Given the description of an element on the screen output the (x, y) to click on. 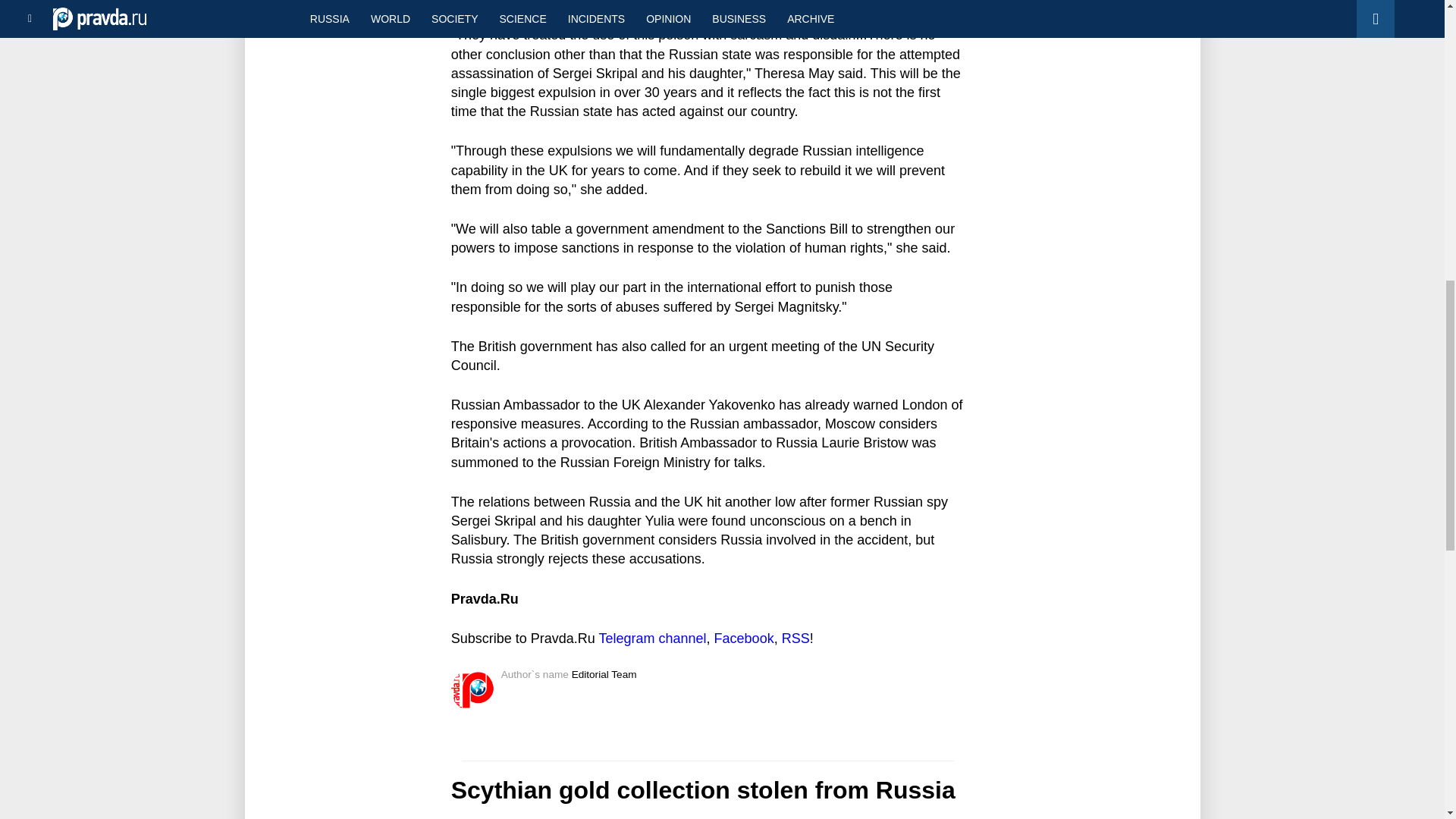
Back to top (1418, 79)
Telegram channel (652, 638)
Facebook (744, 638)
